Given the description of an element on the screen output the (x, y) to click on. 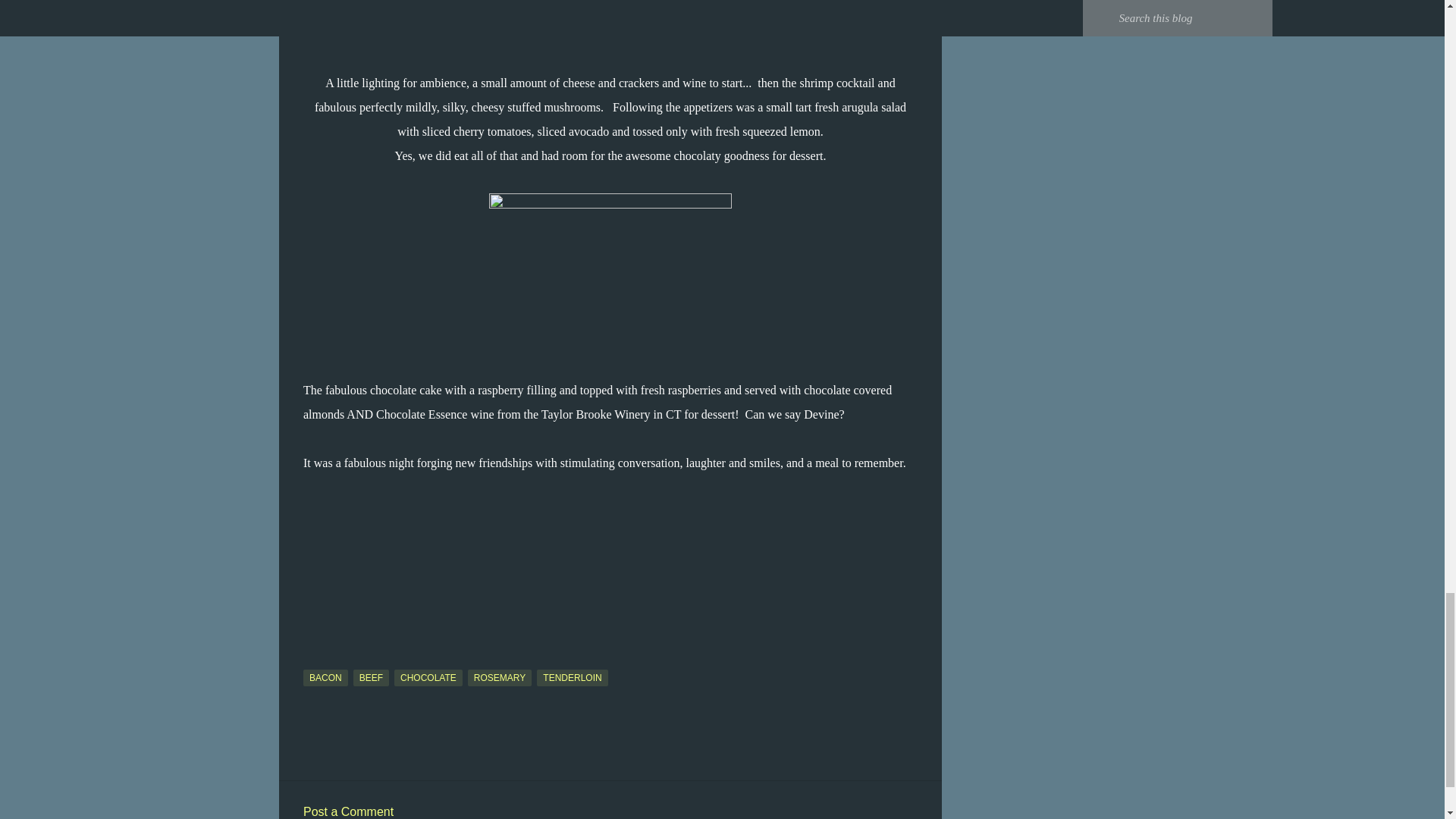
Email Post (311, 660)
ROSEMARY (499, 677)
BEEF (370, 677)
TENDERLOIN (572, 677)
BACON (324, 677)
CHOCOLATE (428, 677)
Post a Comment (347, 811)
